Given the description of an element on the screen output the (x, y) to click on. 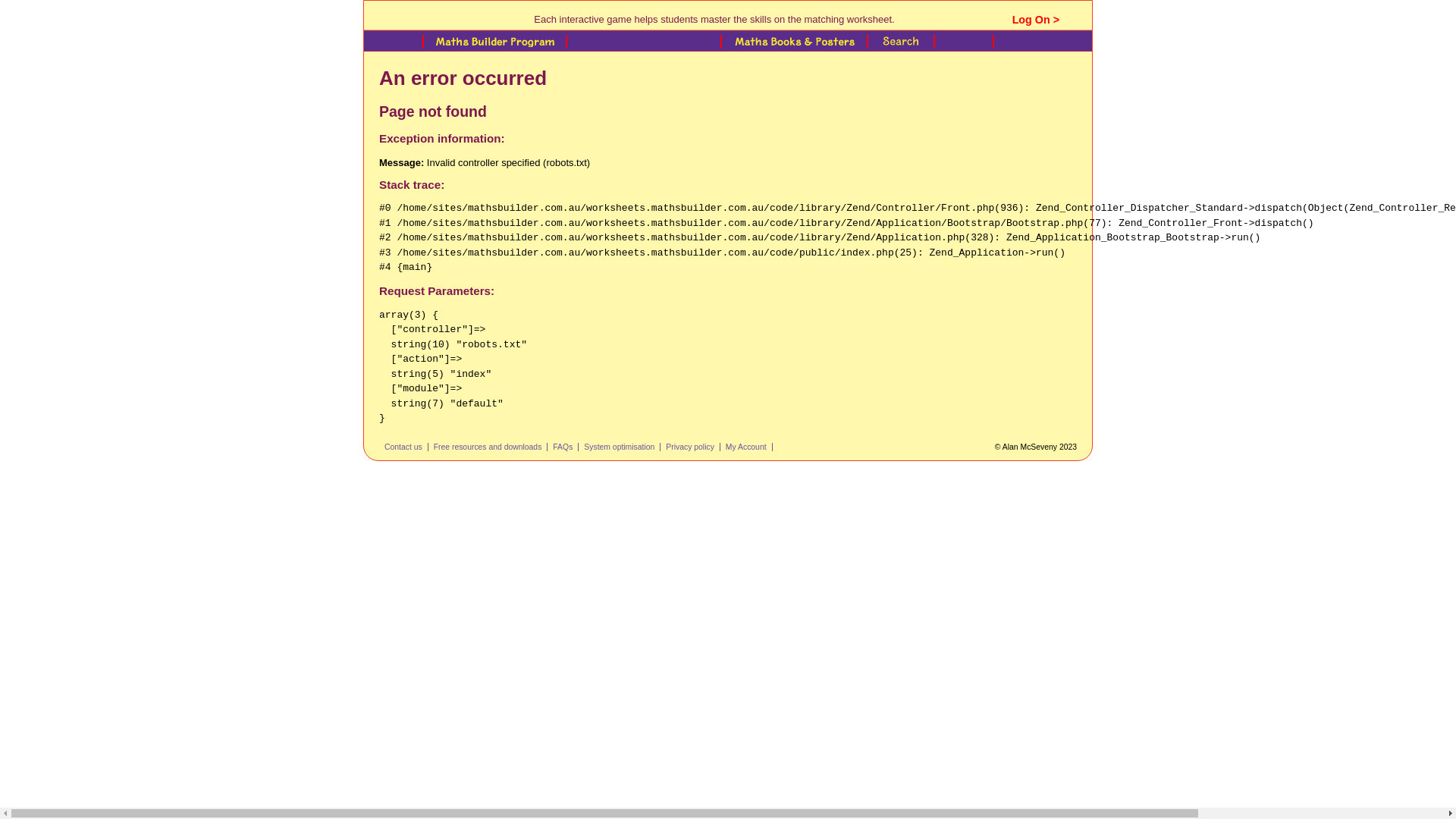
Maths Builder Resources Element type: text (641, 44)
Maths Books & Posters Element type: text (792, 44)
Contact us Element type: text (406, 446)
Privacy policy Element type: text (692, 446)
My Account Element type: text (748, 446)
Free resources and downloads Element type: text (490, 446)
Maths Builder Program Element type: text (492, 44)
FAQs Element type: text (565, 446)
Facebook Element type: text (806, 449)
Search Element type: text (898, 44)
About Element type: text (961, 44)
System optimisation Element type: text (621, 446)
Log On > Element type: text (1035, 19)
